Given the description of an element on the screen output the (x, y) to click on. 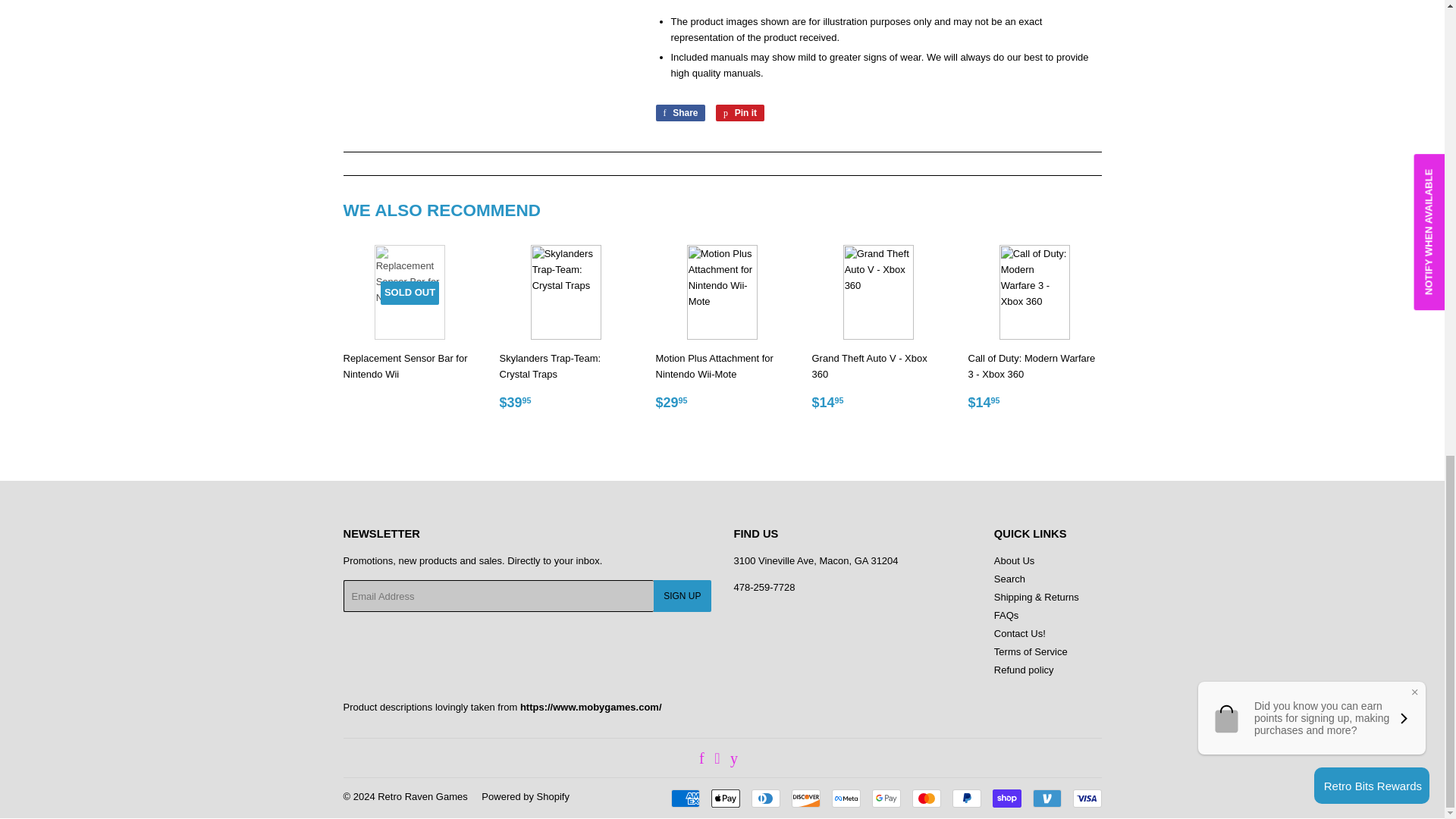
Discover (806, 798)
Shop Pay (1005, 798)
Venmo (1046, 798)
Diners Club (764, 798)
Meta Pay (845, 798)
Mastercard (925, 798)
Pin on Pinterest (740, 112)
Apple Pay (725, 798)
Visa (1085, 798)
Share on Facebook (679, 112)
American Express (683, 798)
PayPal (966, 798)
Google Pay (886, 798)
